Given the description of an element on the screen output the (x, y) to click on. 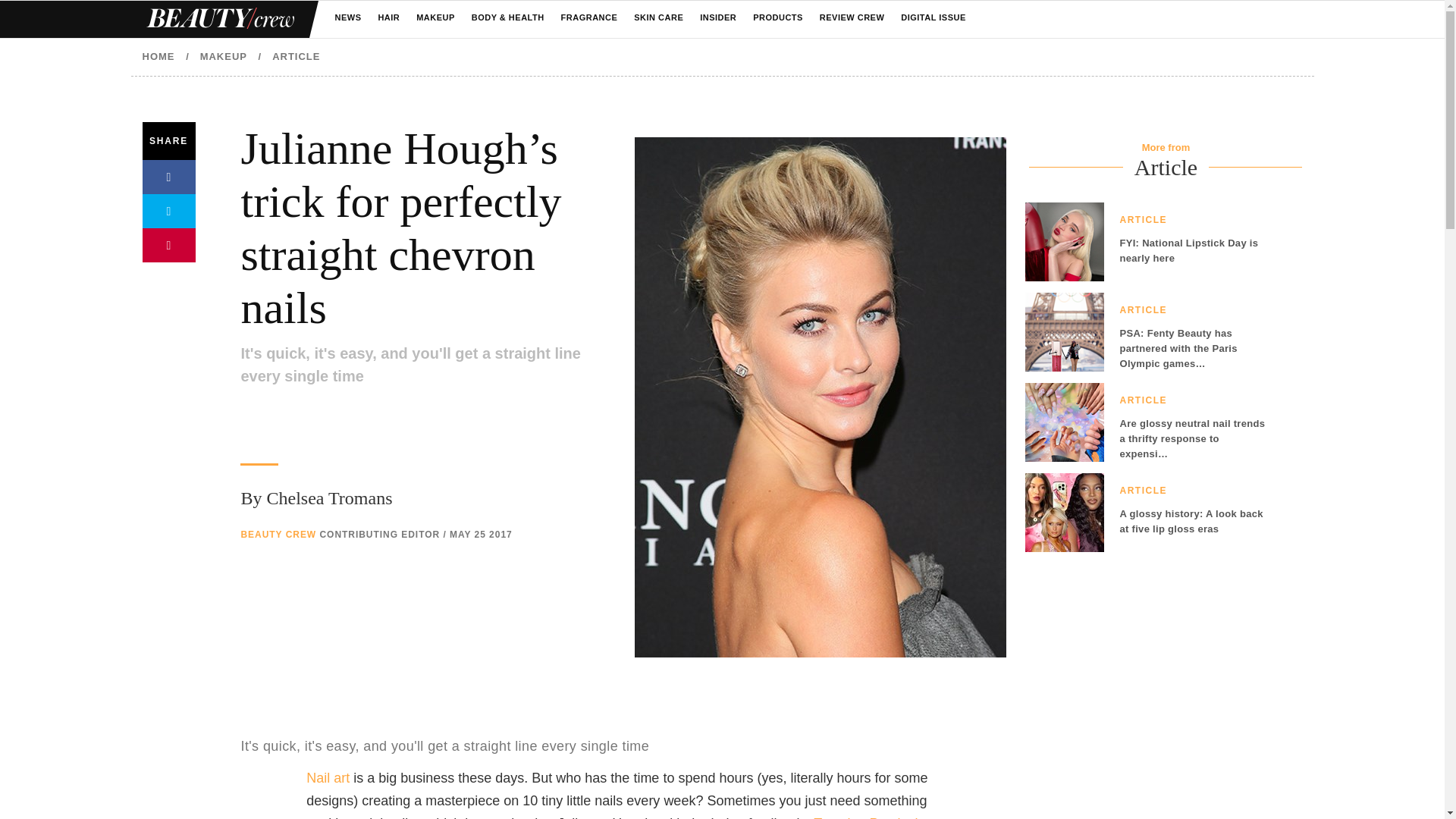
Home (218, 18)
The Best Nail Looks From Cannes (327, 777)
NEWS (347, 18)
Tracylee Percival Instagram (865, 817)
HAIR (387, 18)
MAKEUP (435, 18)
